Given the description of an element on the screen output the (x, y) to click on. 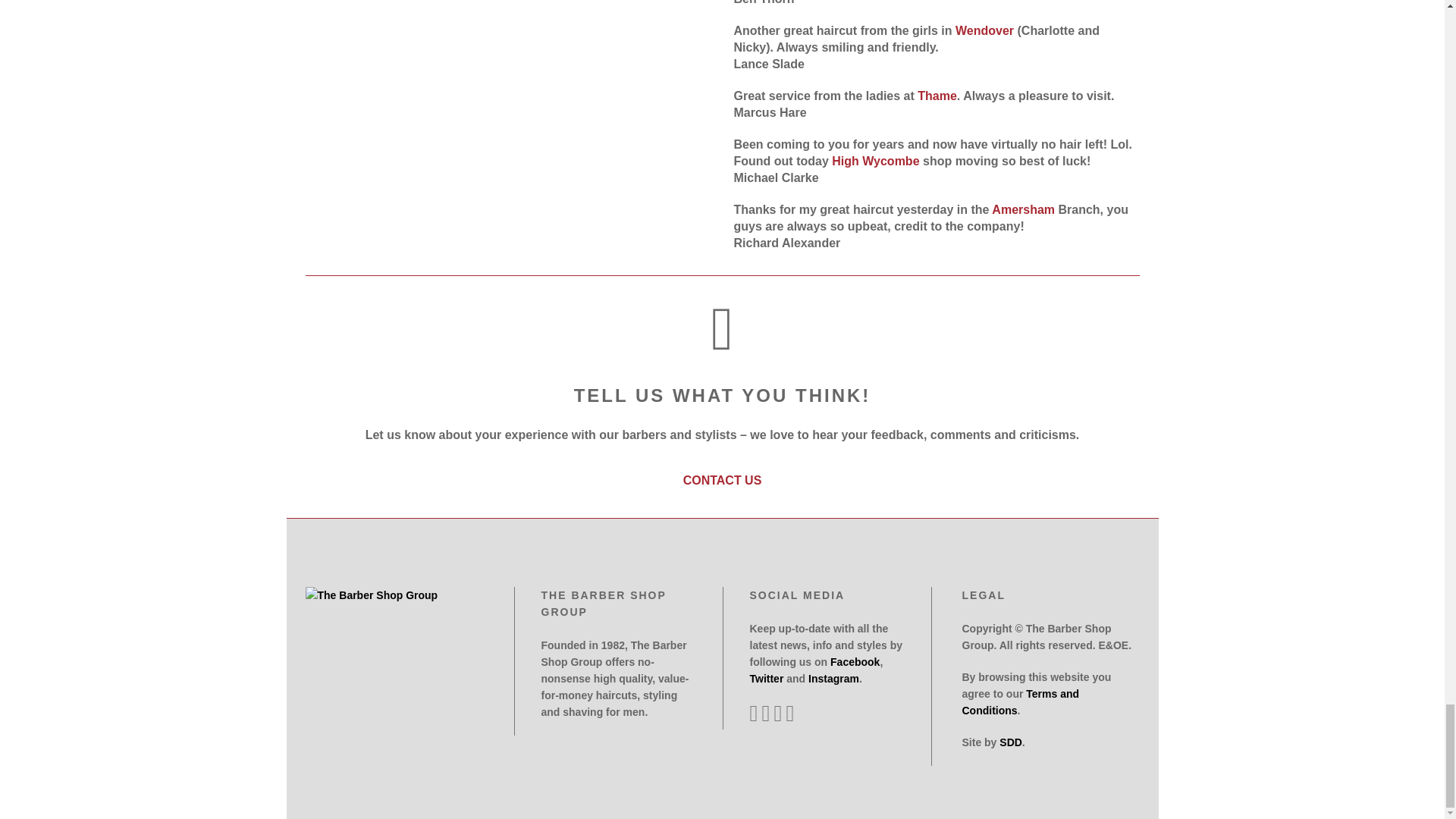
Find out more about The Barber Shop Group's Amersham branch (1022, 209)
Find out more about The Barber Shop Group's Thame branch (936, 95)
Find out more about The Barber Shop Group's Wendover branch (984, 30)
